Given the description of an element on the screen output the (x, y) to click on. 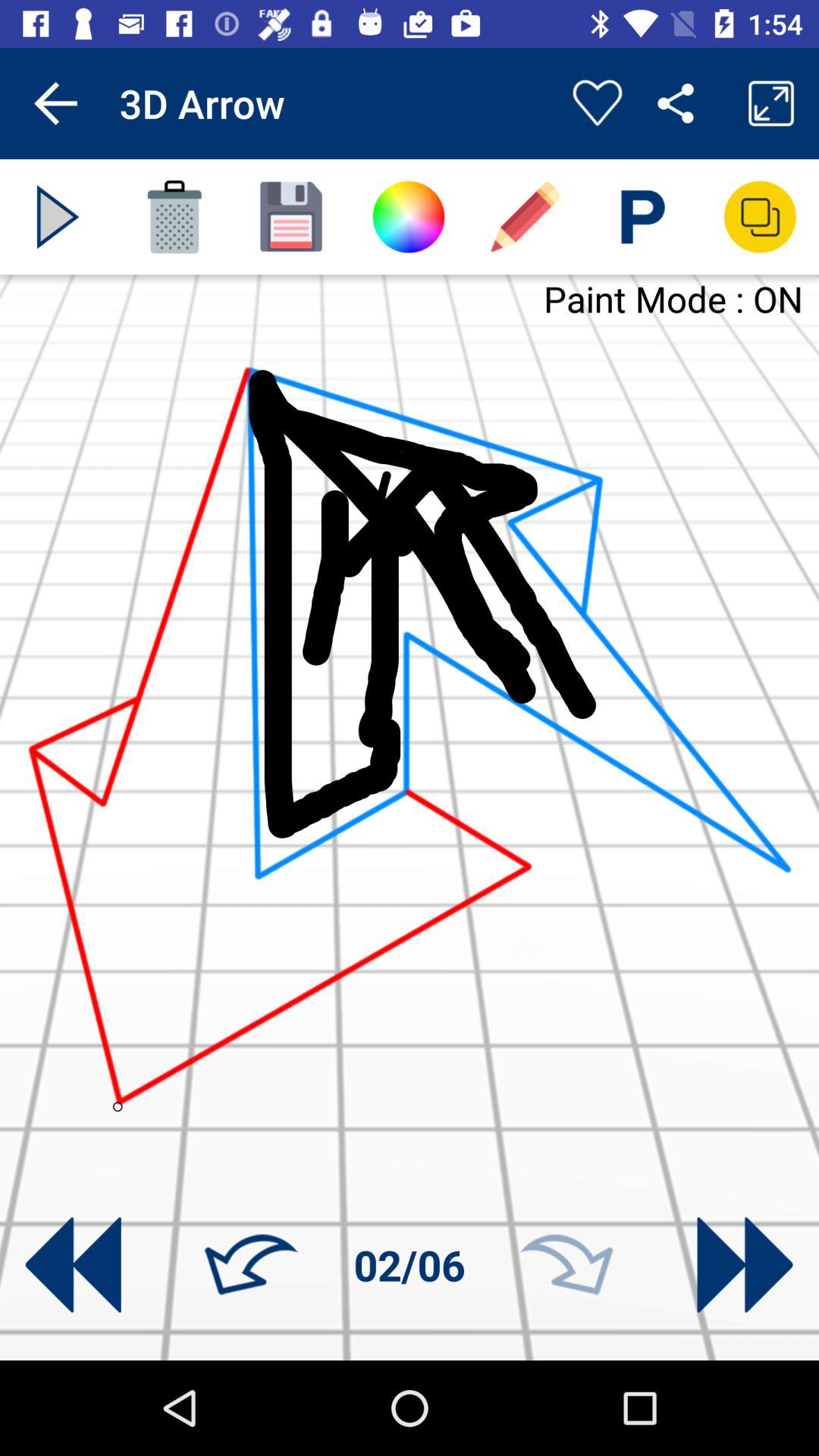
back page (73, 1264)
